Given the description of an element on the screen output the (x, y) to click on. 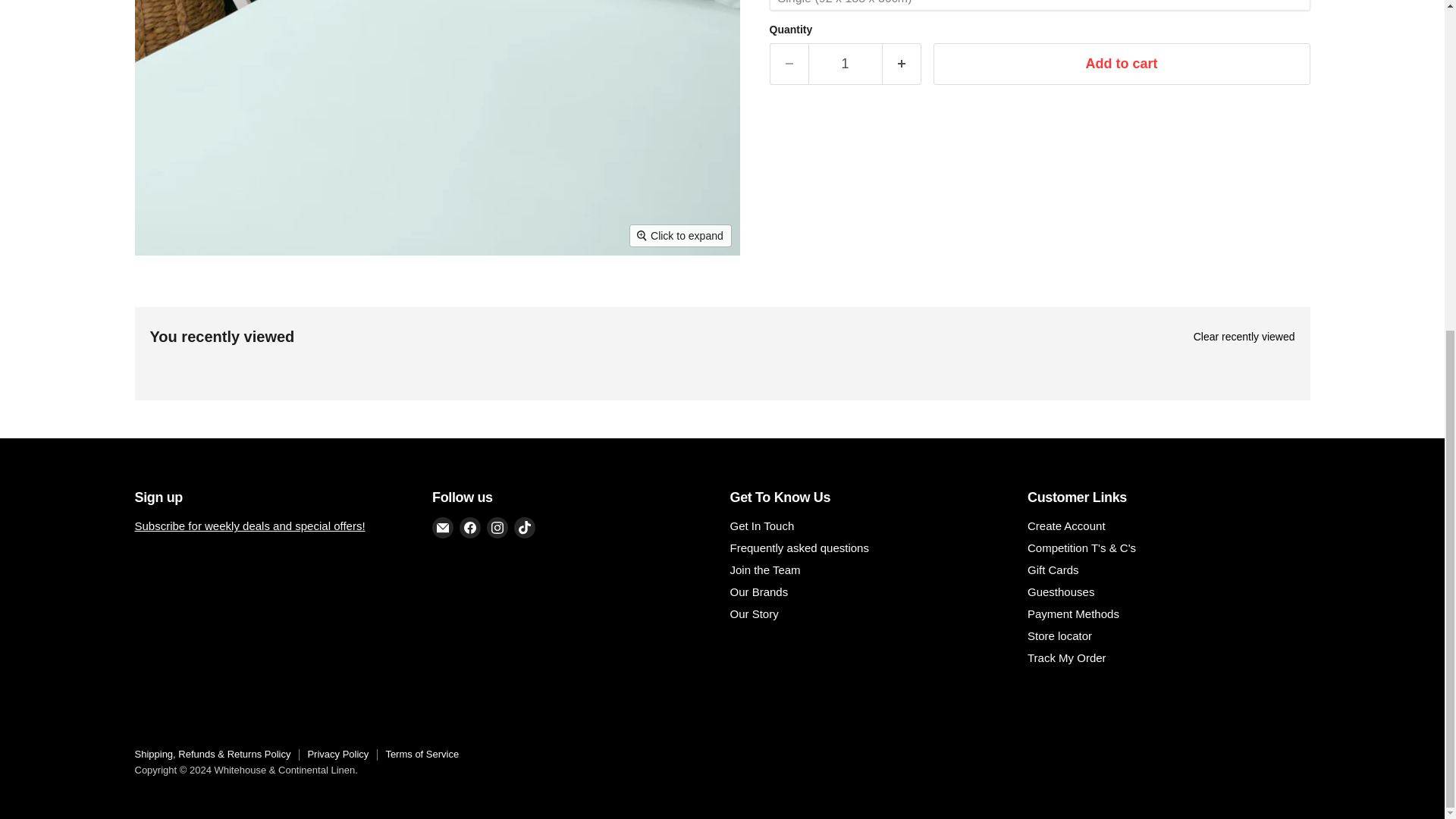
1 (845, 64)
Facebook (470, 527)
Instagram (497, 527)
Sign Up! (250, 525)
Email (442, 527)
TikTok (524, 527)
